Given the description of an element on the screen output the (x, y) to click on. 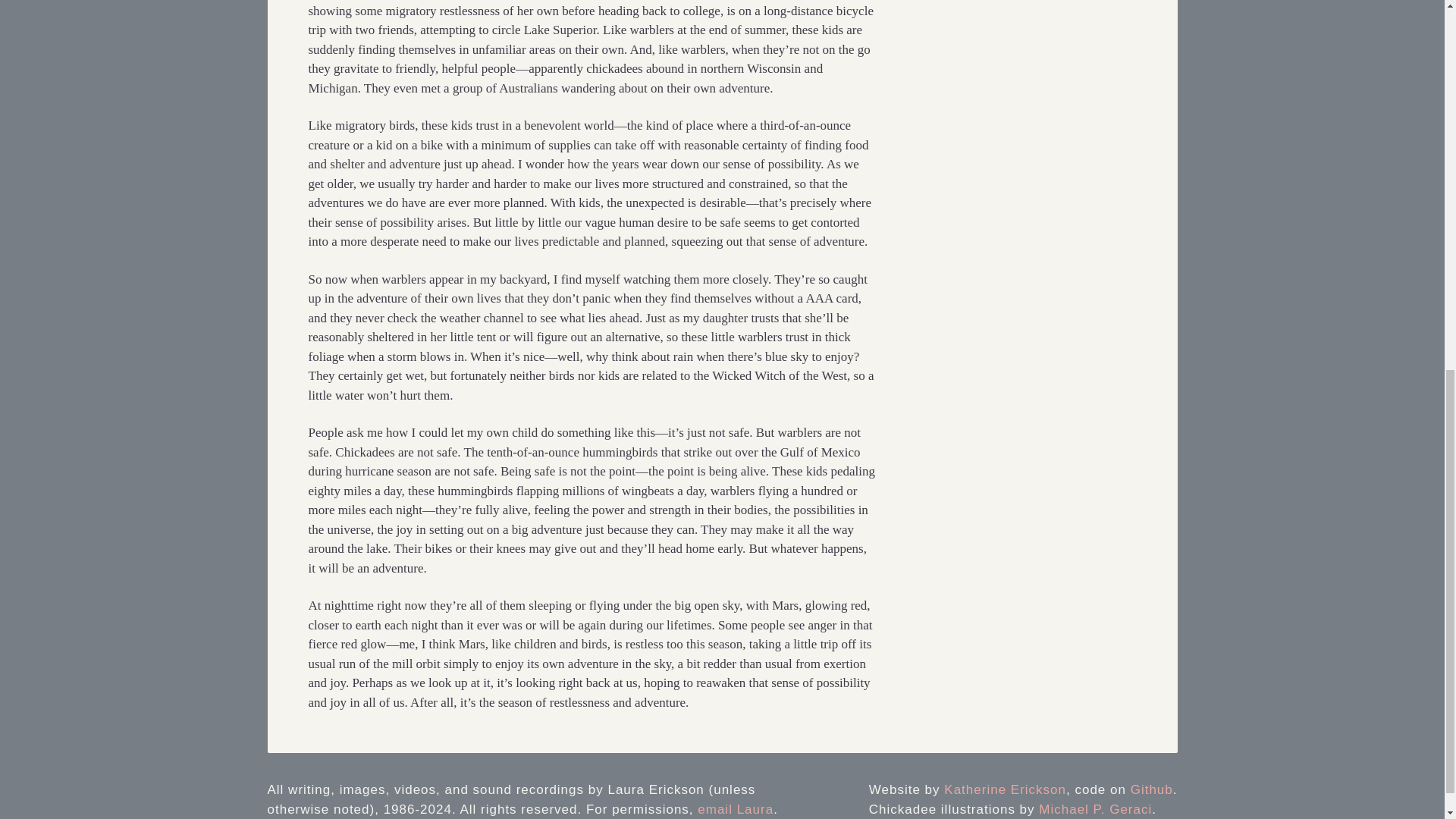
Github (1152, 789)
Michael P. Geraci (1095, 809)
Katherine Erickson (1004, 789)
email Laura (735, 809)
